Given the description of an element on the screen output the (x, y) to click on. 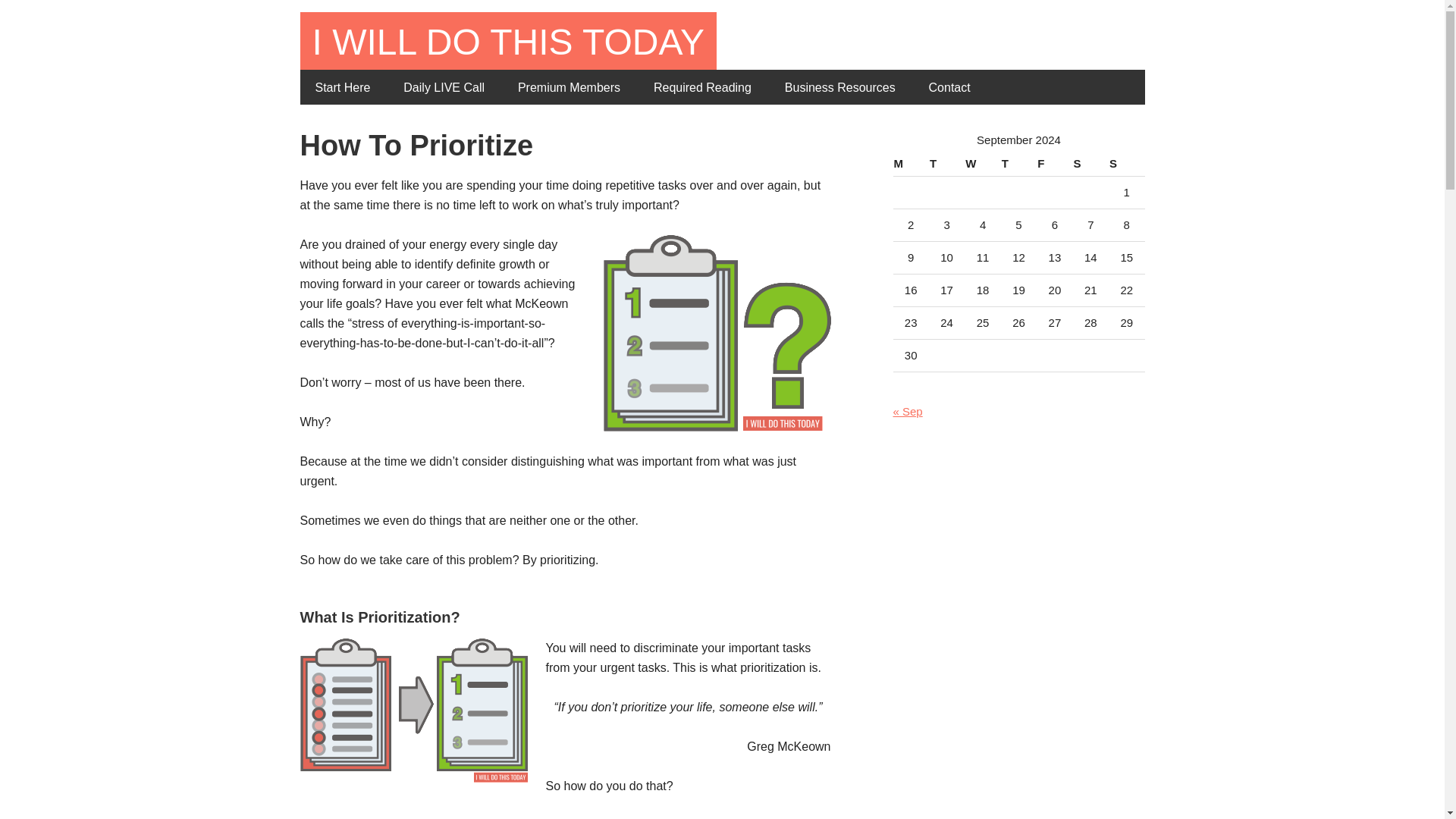
Thursday (1018, 163)
Wednesday (981, 163)
Contact (949, 86)
Monday (910, 163)
Premium Members (568, 86)
Sunday (1126, 163)
Required Reading (703, 86)
Tuesday (945, 163)
I WILL DO THIS TODAY (507, 42)
Saturday (1090, 163)
